Given the description of an element on the screen output the (x, y) to click on. 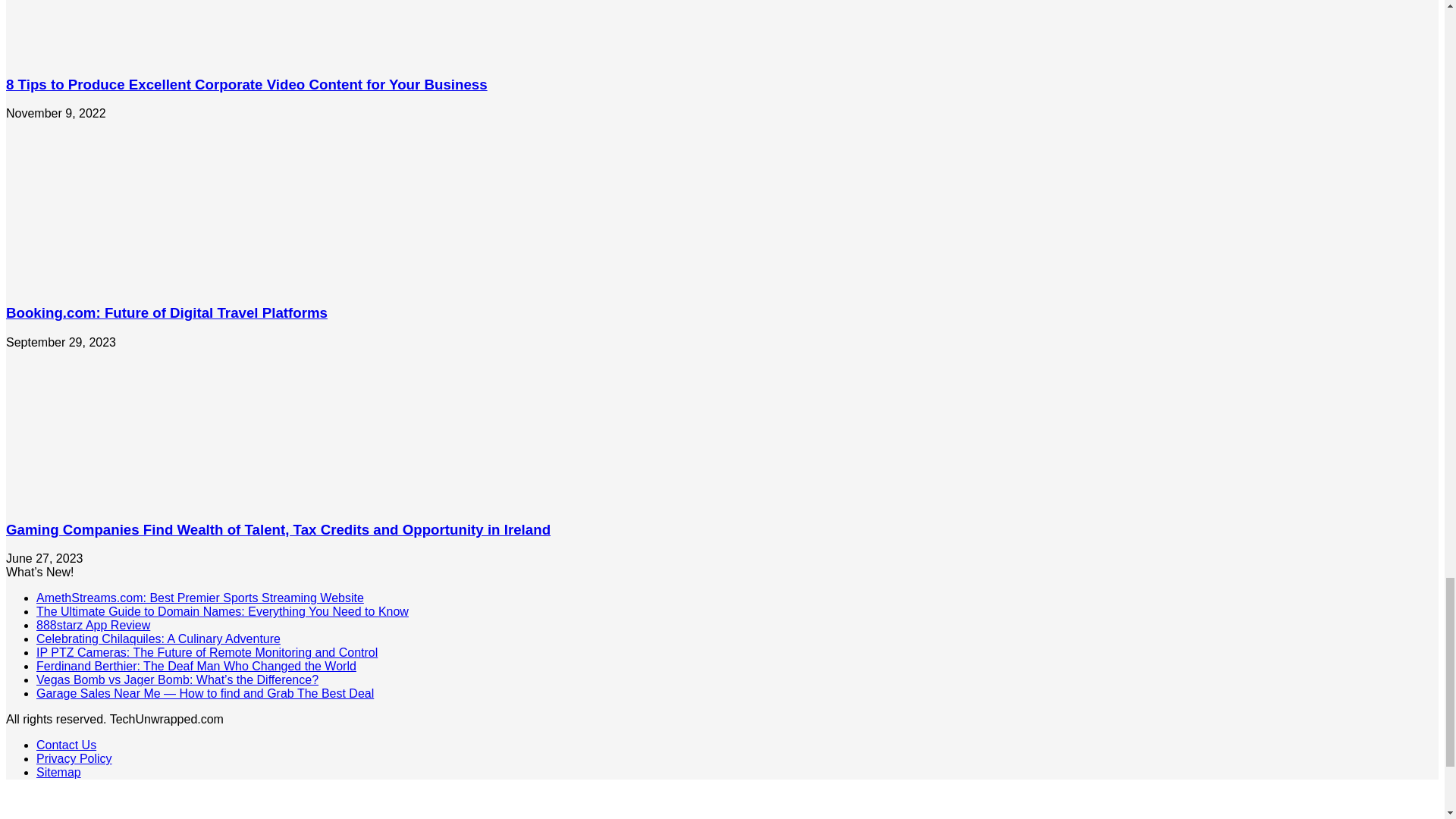
888starz App Review (92, 625)
Contact Us (66, 744)
AmethStreams.com: Best Premier Sports Streaming Website (200, 597)
Ferdinand Berthier: The Deaf Man Who Changed the World (196, 666)
IP PTZ Cameras: The Future of Remote Monitoring and Control (206, 652)
Celebrating Chilaquiles: A Culinary Adventure (158, 638)
Booking.com: Future of Digital Travel Platforms (166, 312)
